Given the description of an element on the screen output the (x, y) to click on. 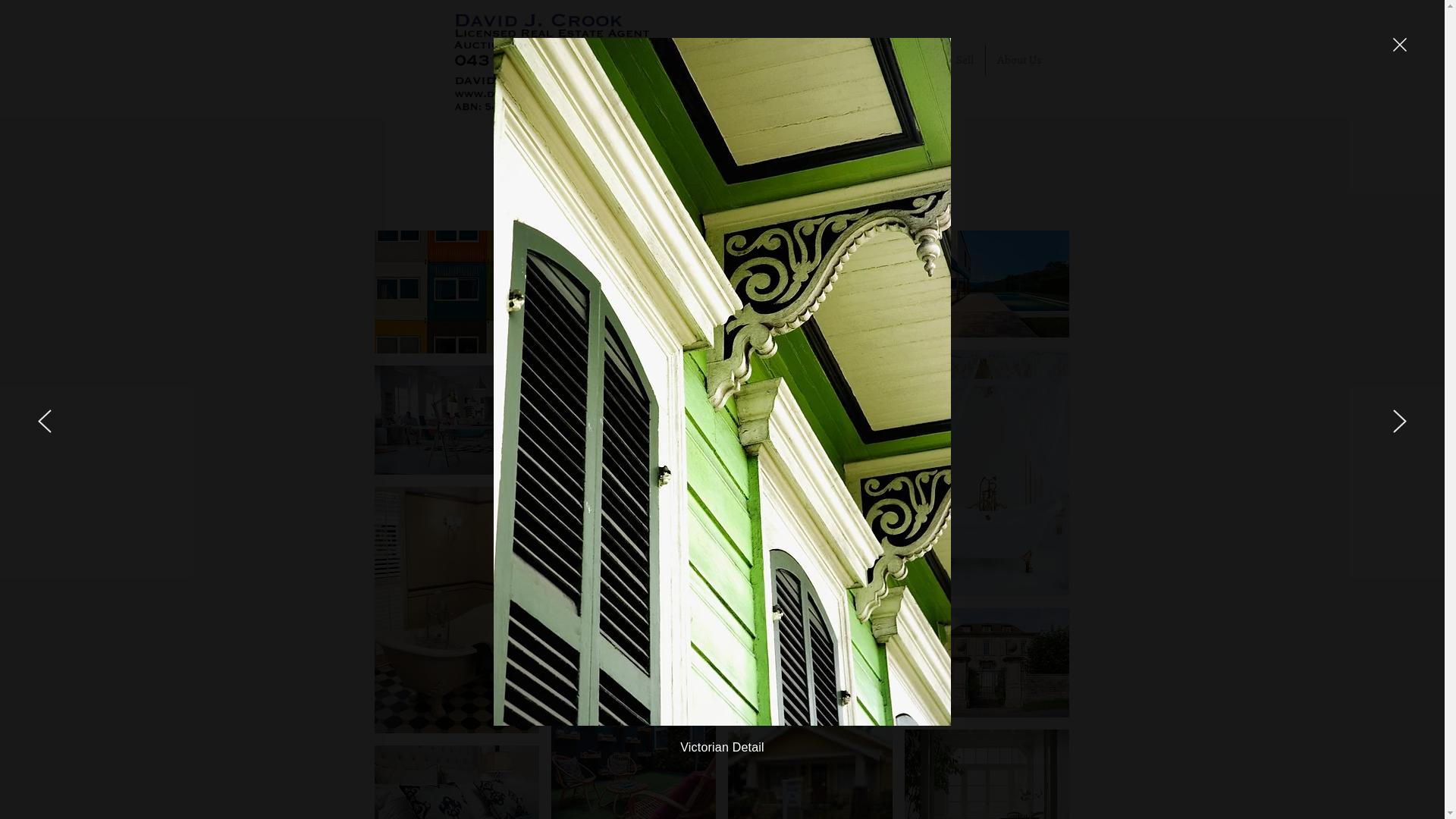
Home Element type: text (841, 58)
Real Estate Element type: text (906, 58)
About Us Element type: text (1018, 58)
Sell Element type: text (964, 58)
DJCRE logo.png Element type: hover (584, 58)
